Given the description of an element on the screen output the (x, y) to click on. 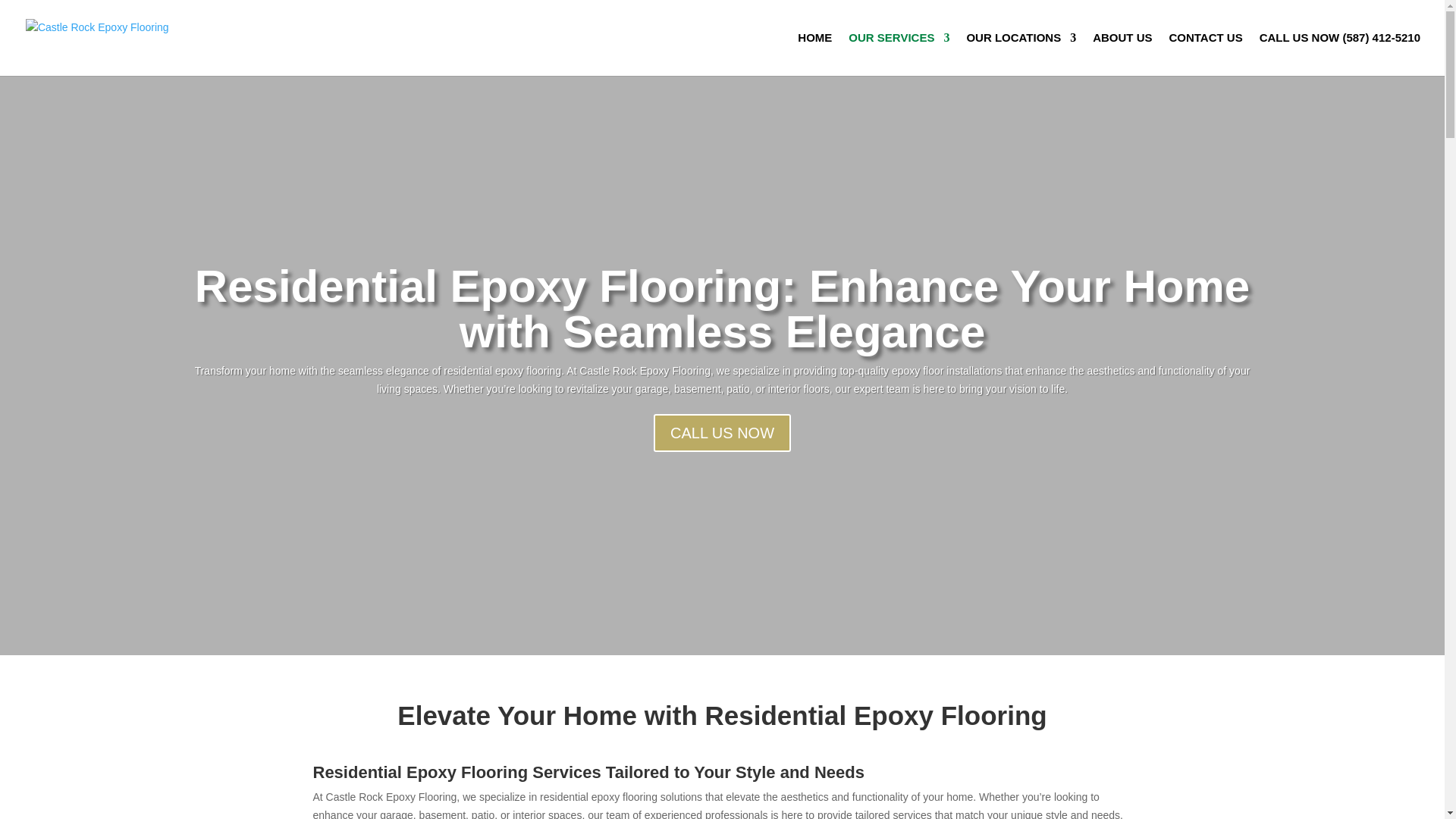
ABOUT US (1122, 54)
OUR SERVICES (898, 54)
OUR LOCATIONS (1020, 54)
CONTACT US (1205, 54)
HOME (814, 54)
